Given the description of an element on the screen output the (x, y) to click on. 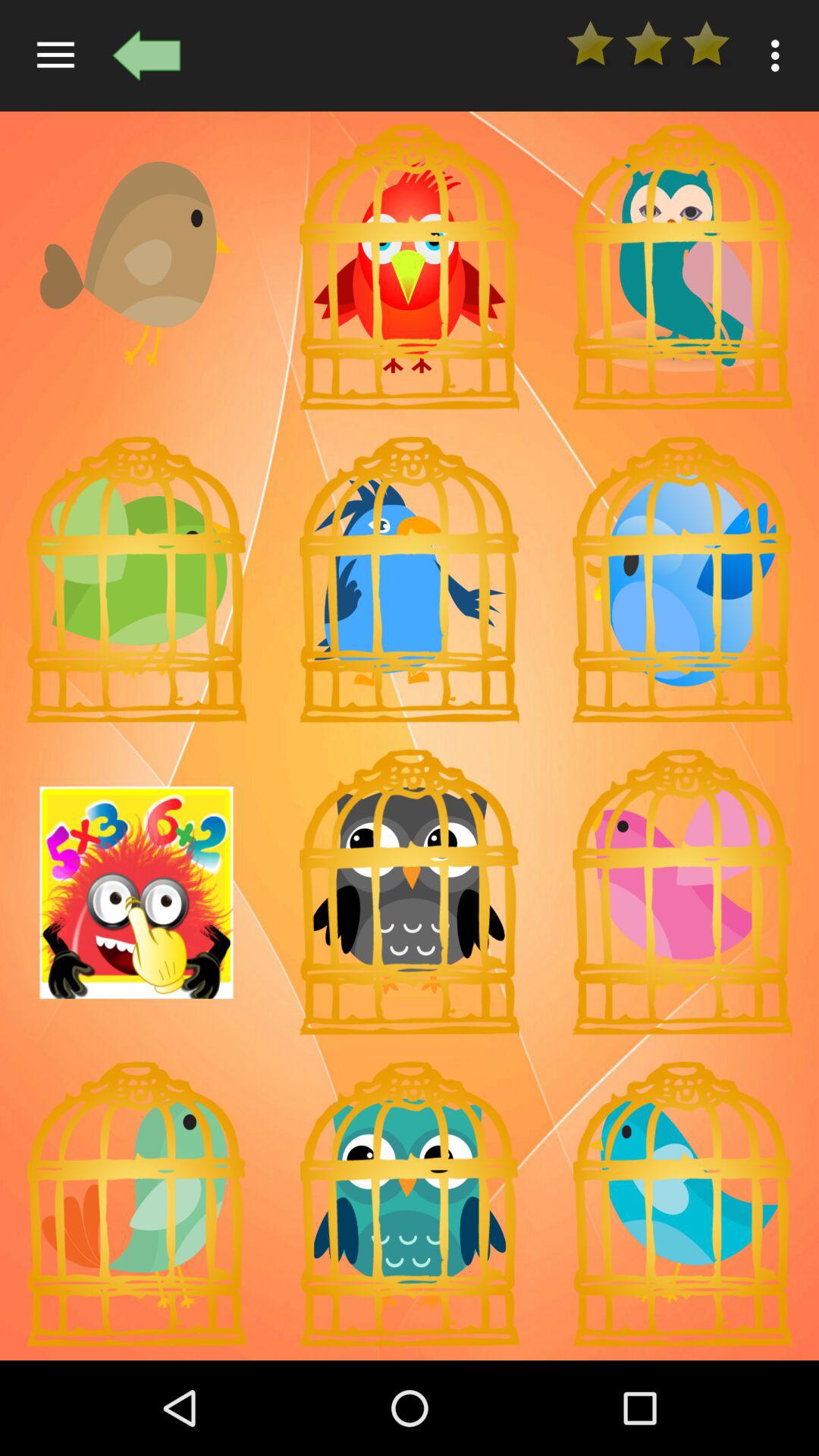
select parrot in cage (409, 1204)
